Given the description of an element on the screen output the (x, y) to click on. 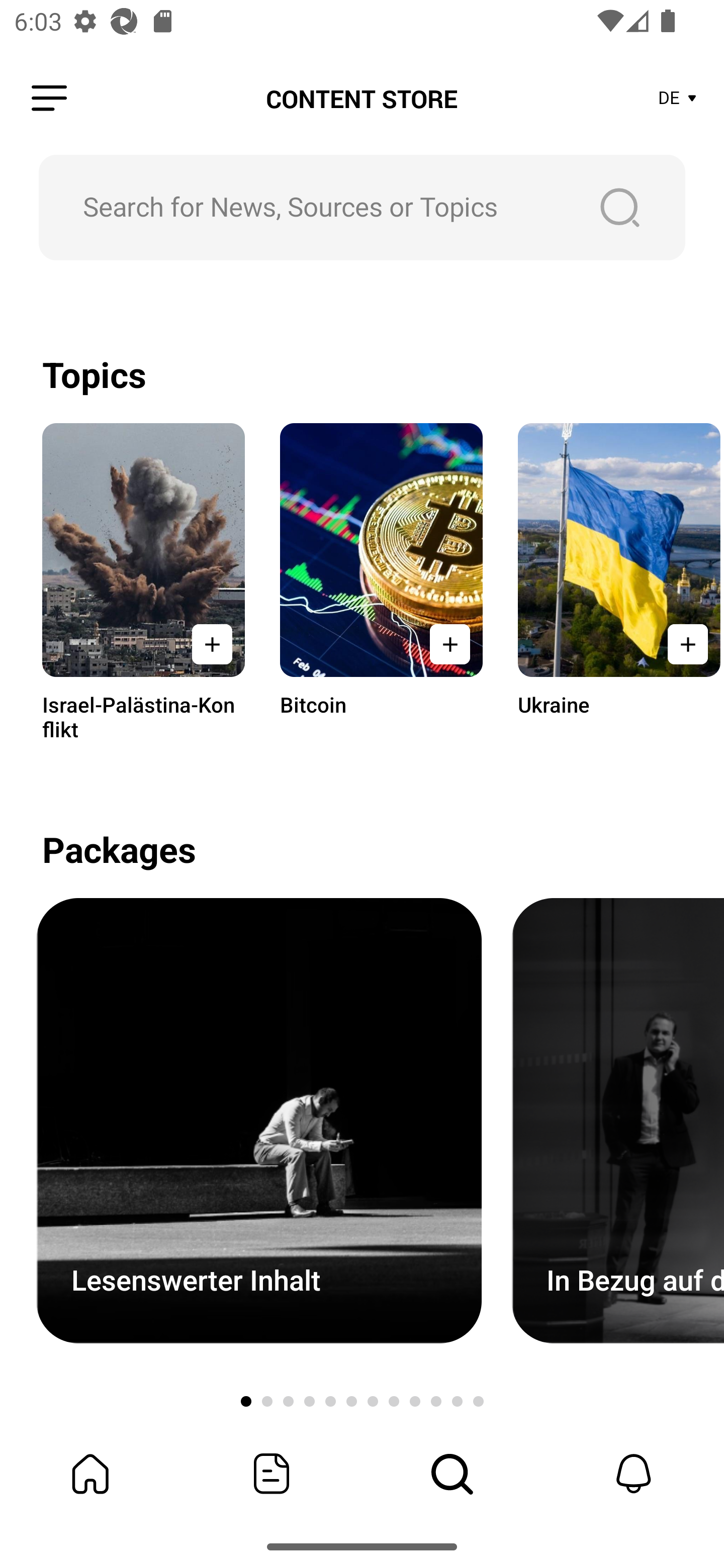
DE Store Area (677, 98)
Leading Icon (49, 98)
Search for News, Sources or Topics Search Button (361, 207)
Add To My Bundle (212, 644)
Add To My Bundle (449, 644)
Add To My Bundle (684, 644)
My Bundle (90, 1473)
Featured (271, 1473)
Notifications (633, 1473)
